Given the description of an element on the screen output the (x, y) to click on. 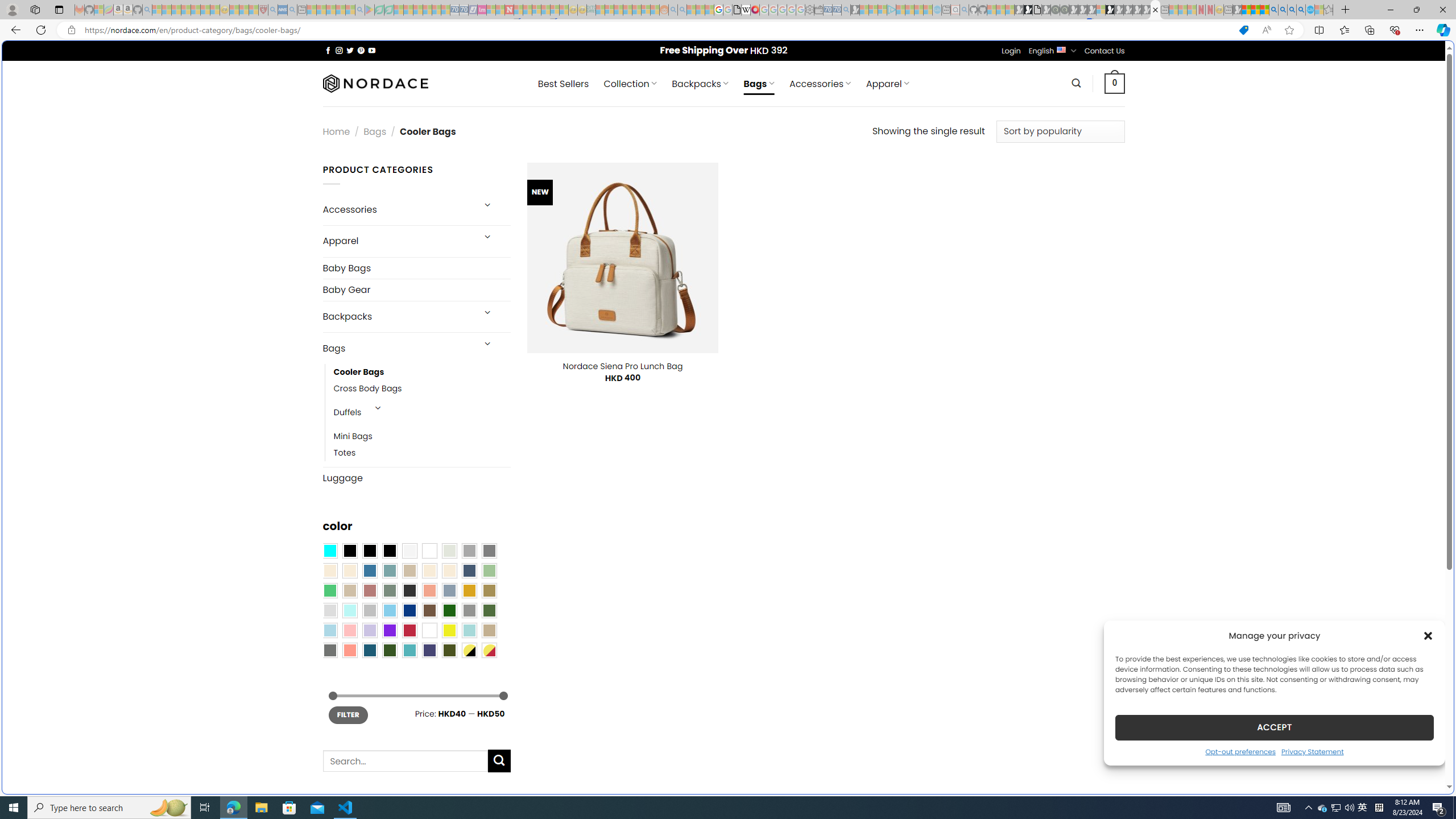
Dark Green (449, 610)
Baby Bags (416, 267)
Capri Blue (369, 649)
Duffels (347, 412)
Target page - Wikipedia (745, 9)
